Given the description of an element on the screen output the (x, y) to click on. 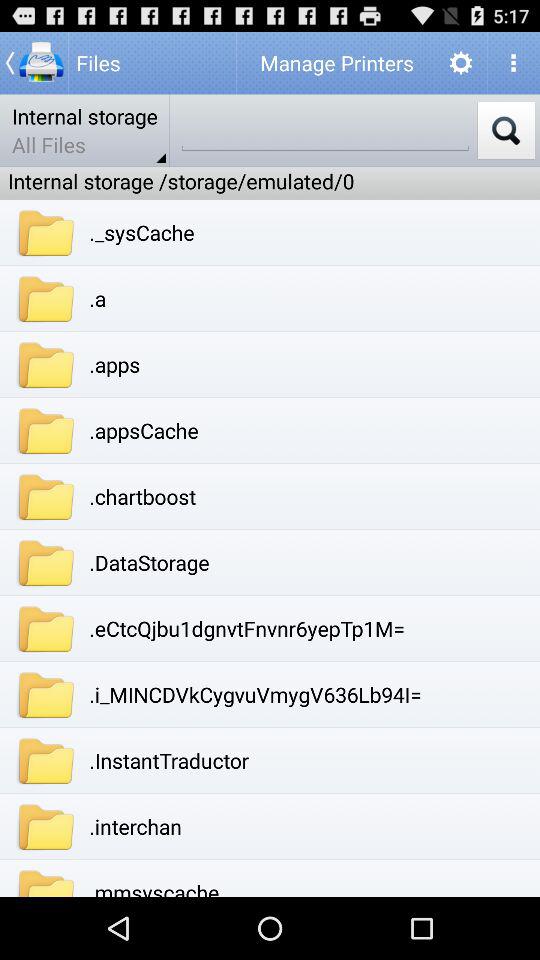
launch the item above .chartboost icon (143, 430)
